Given the description of an element on the screen output the (x, y) to click on. 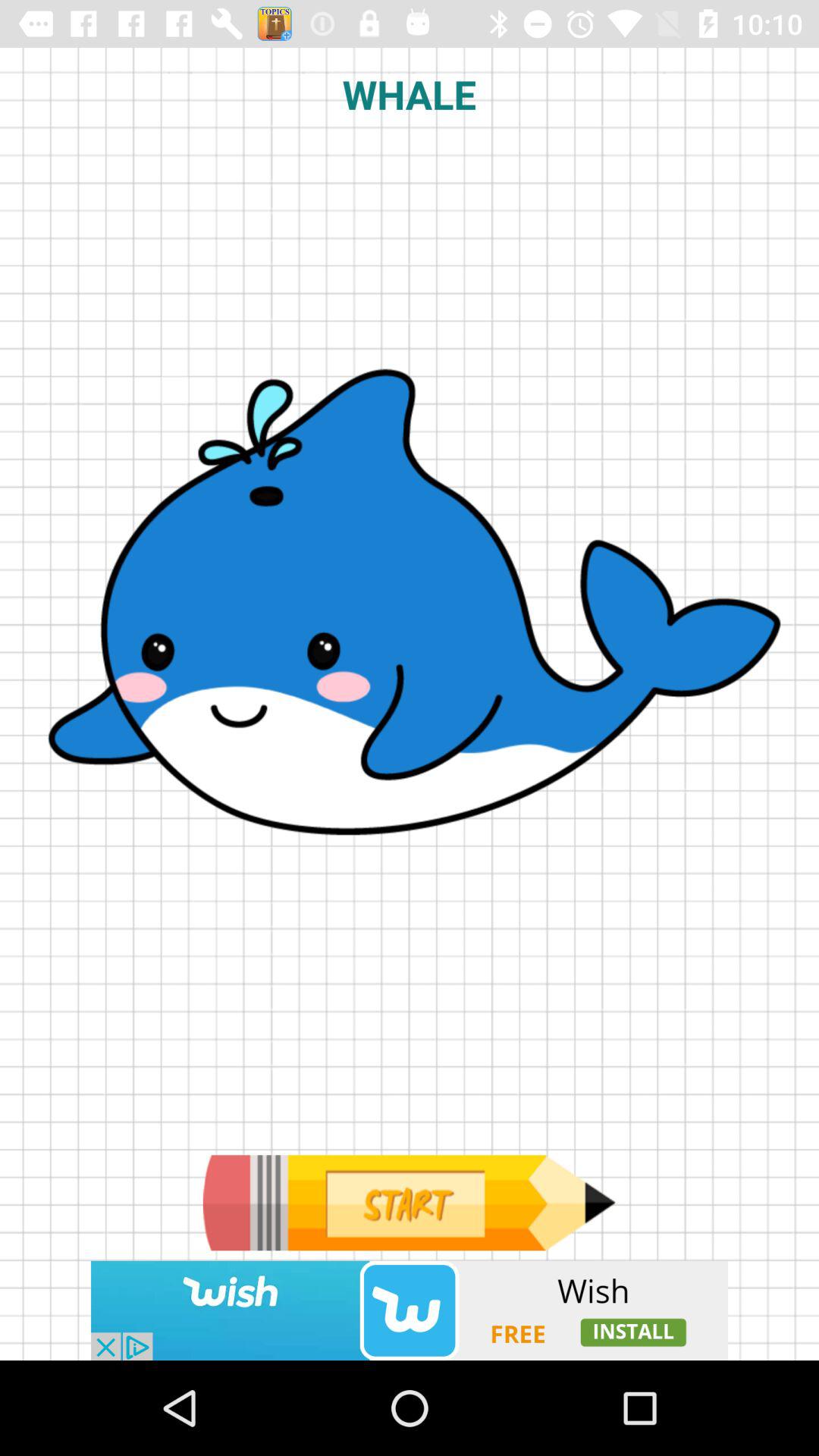
go next (409, 1202)
